Given the description of an element on the screen output the (x, y) to click on. 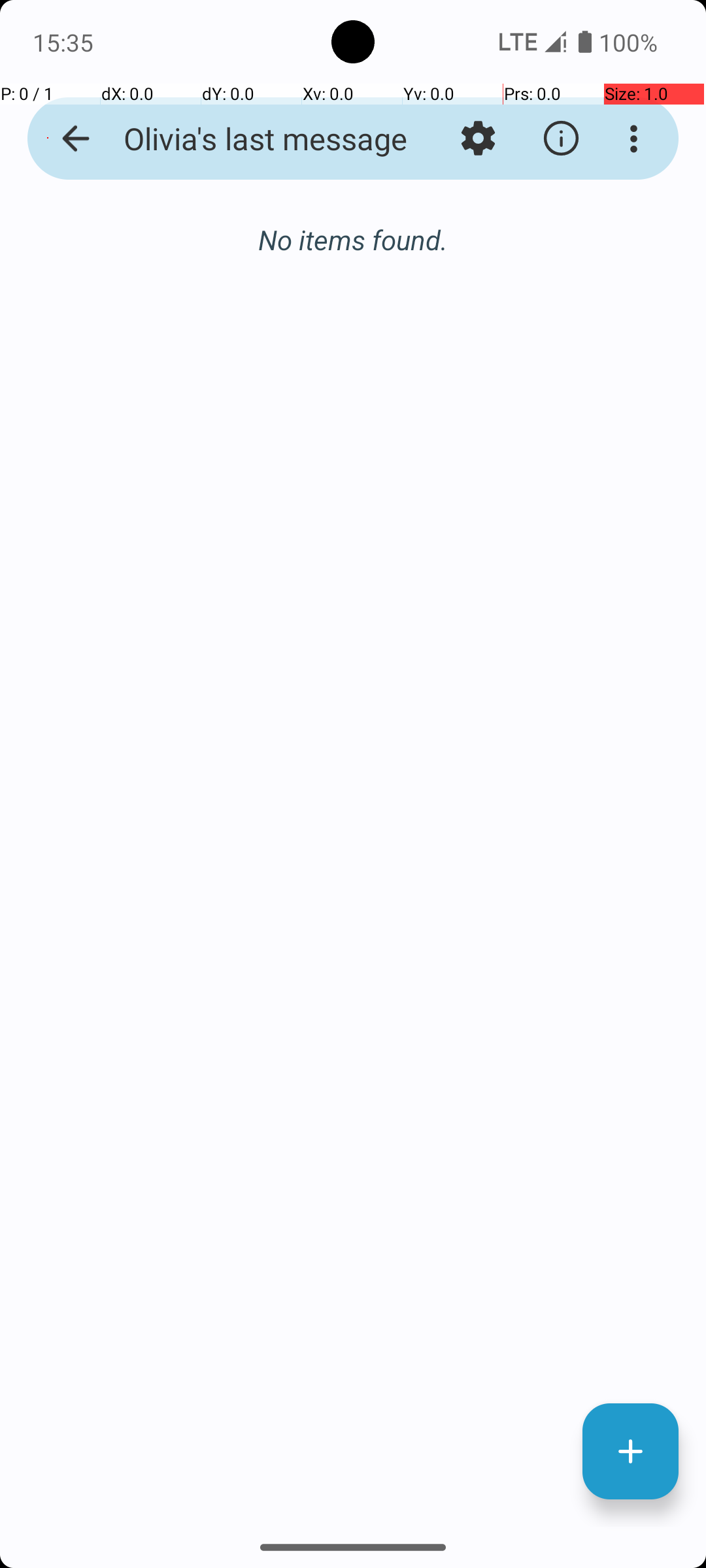
Olivia's last message Element type: android.widget.EditText (252, 138)
Olivia Mohamed Element type: android.widget.TextView (408, 237)
